Given the description of an element on the screen output the (x, y) to click on. 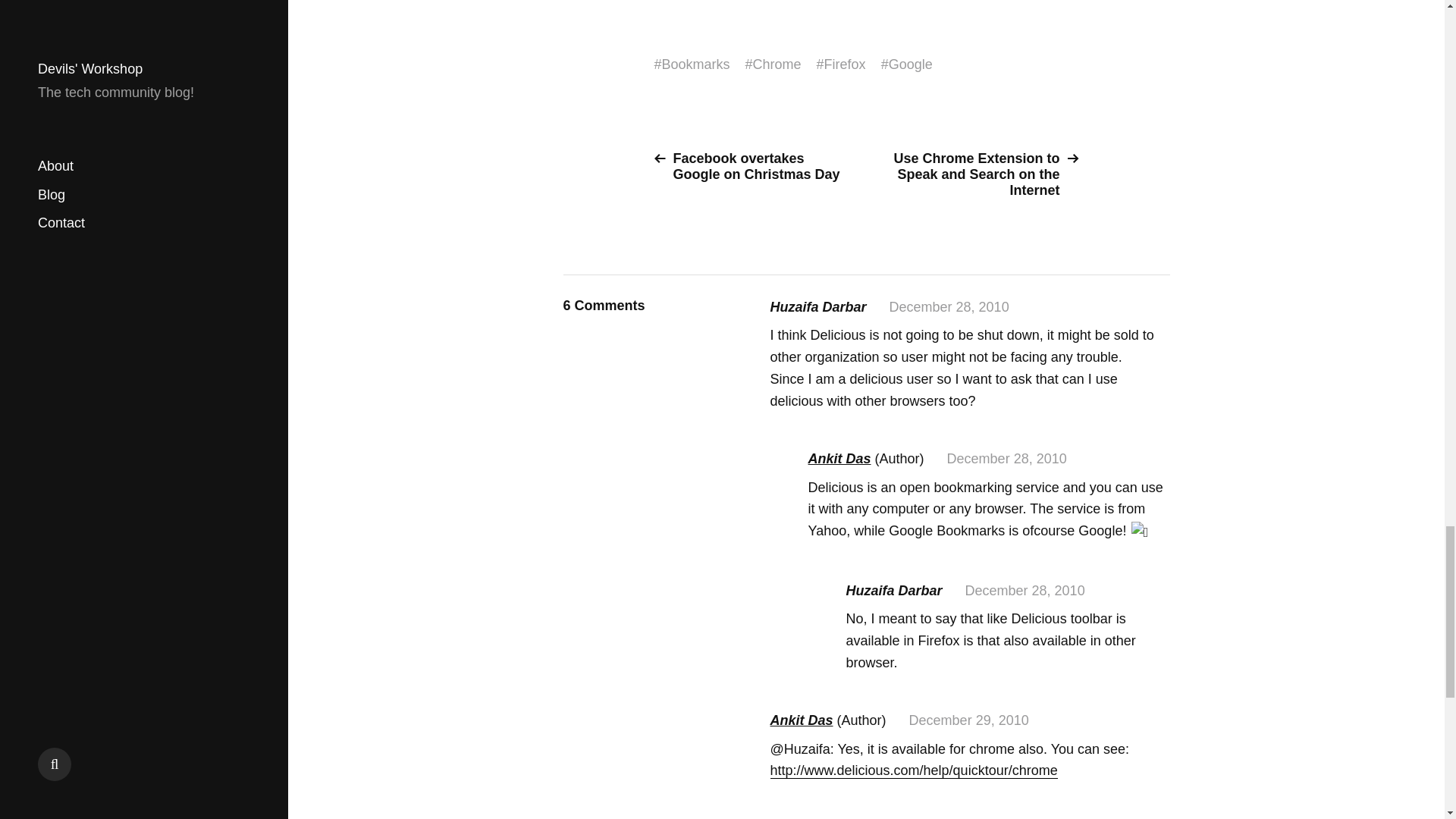
Bookmarks (696, 64)
Ankit Das (839, 458)
Chrome (777, 64)
Firefox (845, 64)
December 28, 2010 at 7:12 pm (1007, 458)
December 28, 2010 (949, 306)
Facebook overtakes Google on Christmas Day (753, 166)
December 28, 2010 (1007, 458)
December 28, 2010 at 7:25 pm (1024, 590)
Ankit Das (801, 720)
December 29, 2010 (968, 720)
Use Chrome Extension to Speak and Search on the Internet (977, 174)
December 28, 2010 (1024, 590)
Google (910, 64)
December 29, 2010 at 12:40 pm (968, 720)
